Given the description of an element on the screen output the (x, y) to click on. 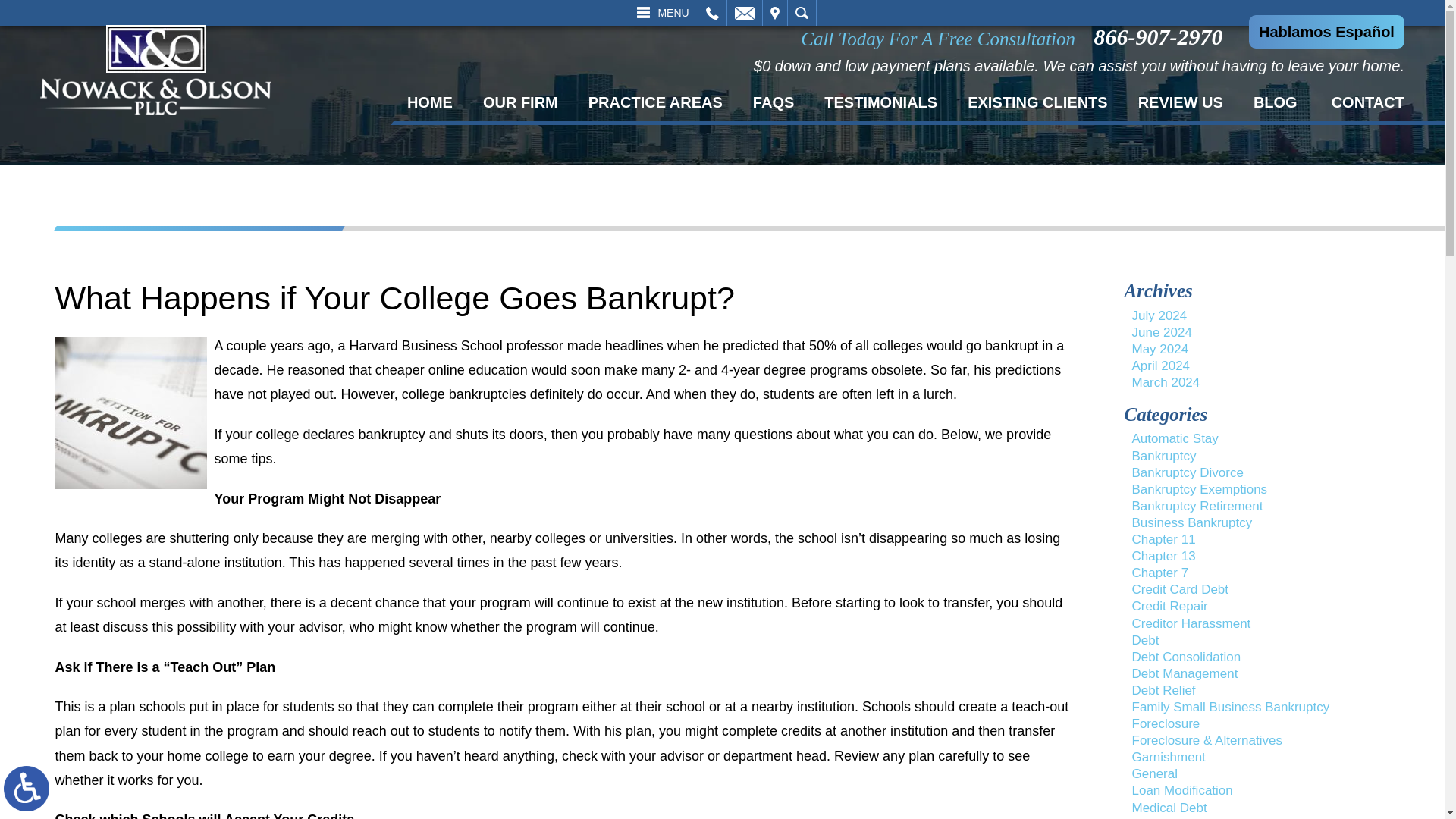
Bankruptcy11 (130, 412)
HOME (429, 101)
CALL (711, 12)
EMAIL (743, 12)
PRACTICE AREAS (655, 101)
SEARCH (801, 12)
VISIT (774, 12)
OUR FIRM (520, 101)
MENU (662, 12)
866-907-2970 (1162, 36)
